Given the description of an element on the screen output the (x, y) to click on. 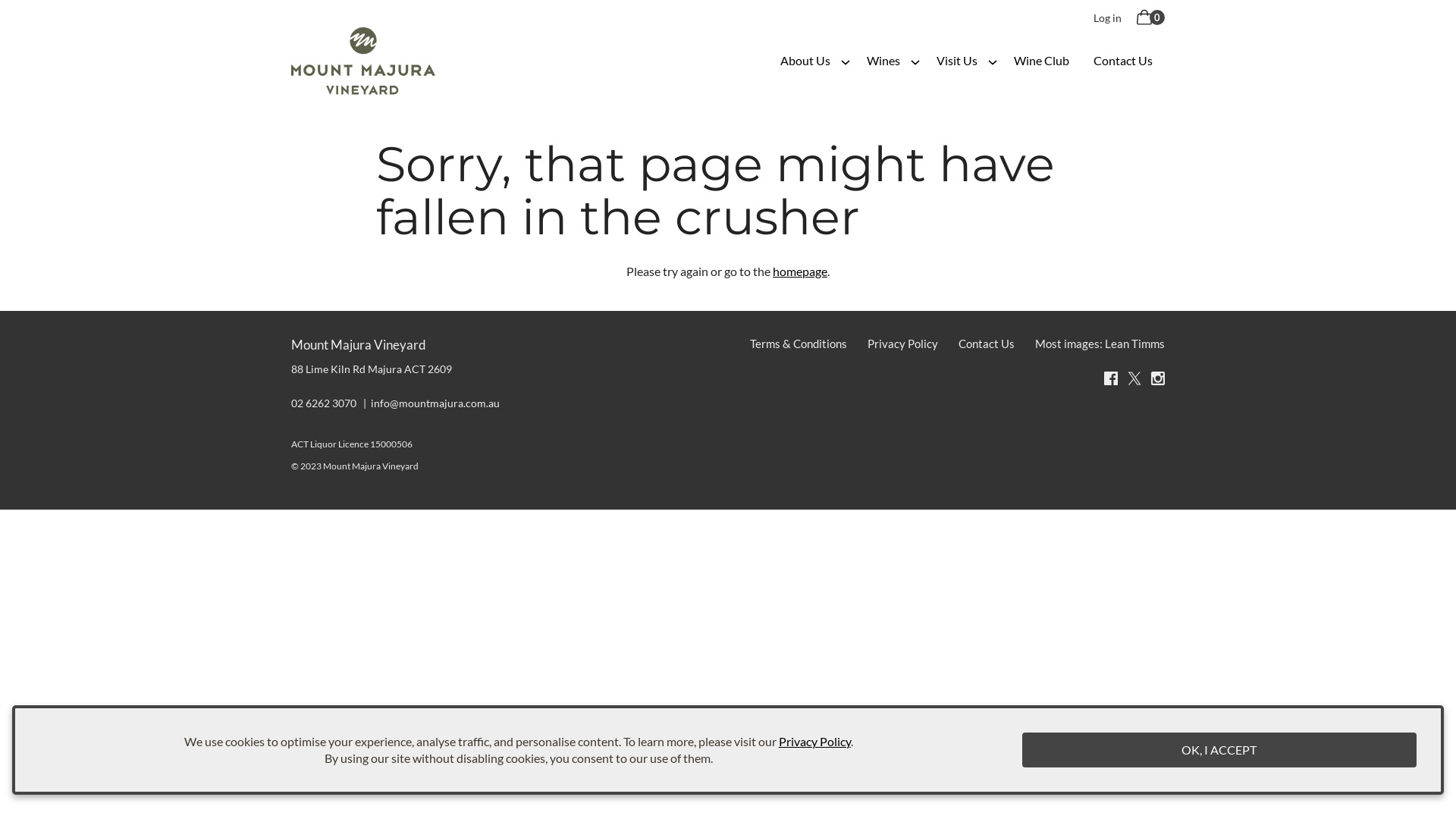
Privacy Policy Element type: text (814, 741)
Contact Us Element type: text (986, 343)
Contact Us Element type: text (1122, 60)
About Us Element type: text (805, 60)
Wine Club Element type: text (1041, 60)
homepage Element type: text (799, 270)
OK, I ACCEPT Element type: text (1219, 749)
Terms & Conditions Element type: text (798, 343)
Log in Element type: text (1107, 17)
Visit Us Element type: text (956, 60)
Most images: Lean Timms Element type: text (1096, 343)
02 6262 3070 Element type: text (329, 403)
Wines Element type: text (883, 60)
info@mountmajura.com.au Element type: text (434, 403)
Privacy Policy Element type: text (902, 343)
88 Lime Kiln Rd Majura ACT 2609 Element type: text (371, 368)
Cart
0 Element type: text (1148, 17)
